Given the description of an element on the screen output the (x, y) to click on. 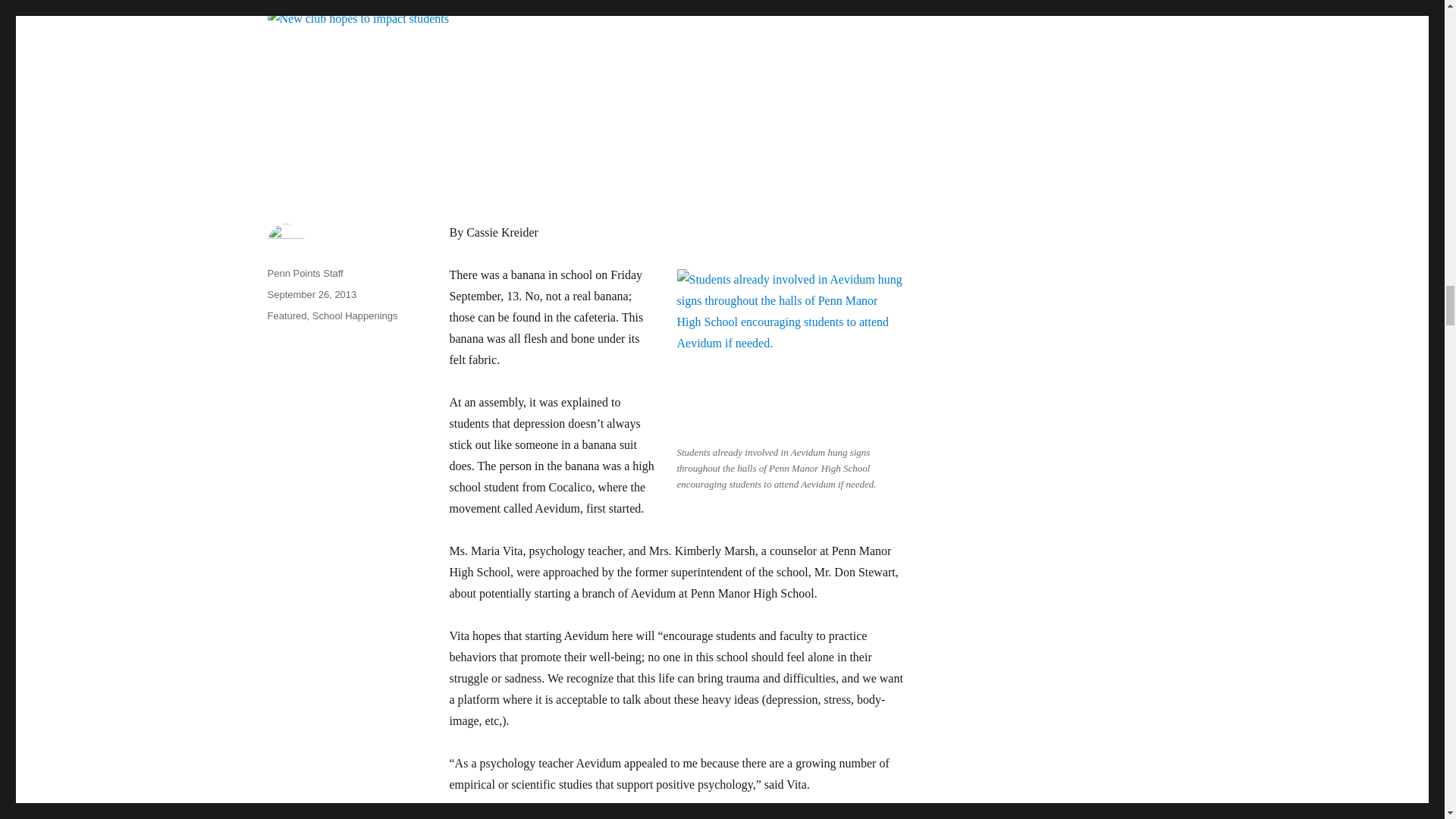
Penn Points Staff (304, 273)
Featured (285, 315)
September 26, 2013 (311, 294)
